Given the description of an element on the screen output the (x, y) to click on. 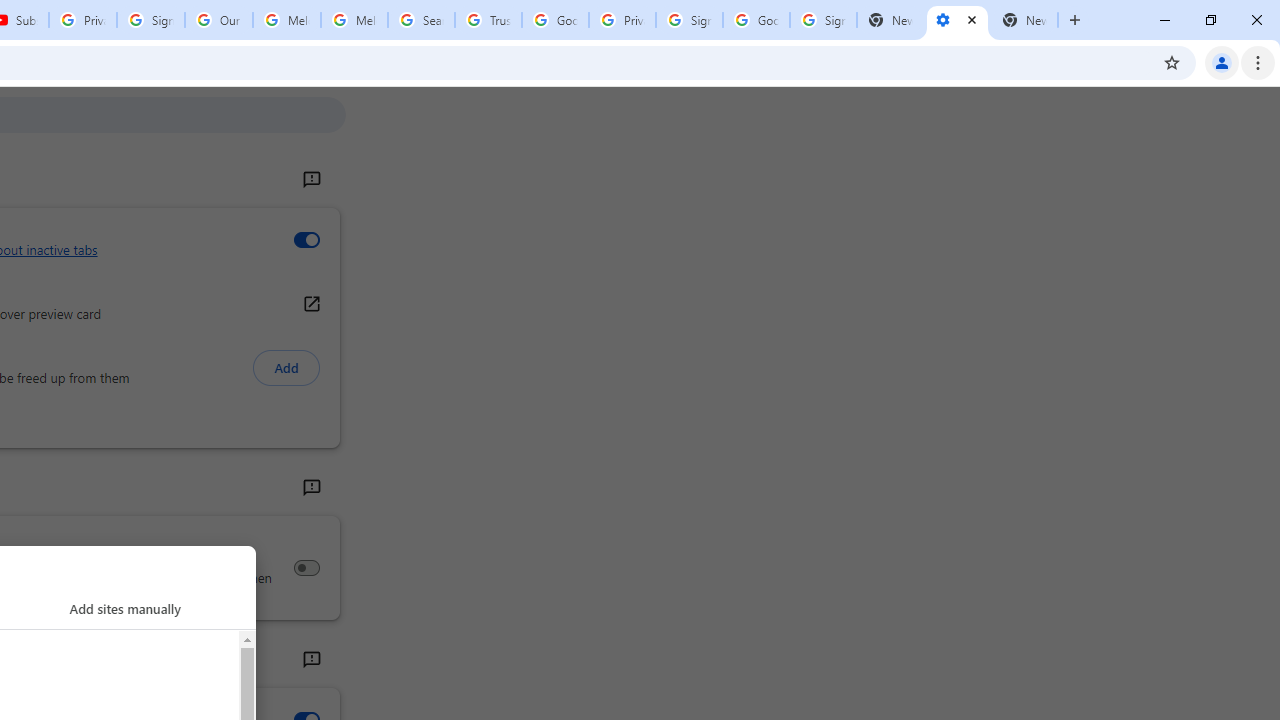
Settings - Performance (957, 20)
Trusted Information and Content - Google Safety Center (488, 20)
